Given the description of an element on the screen output the (x, y) to click on. 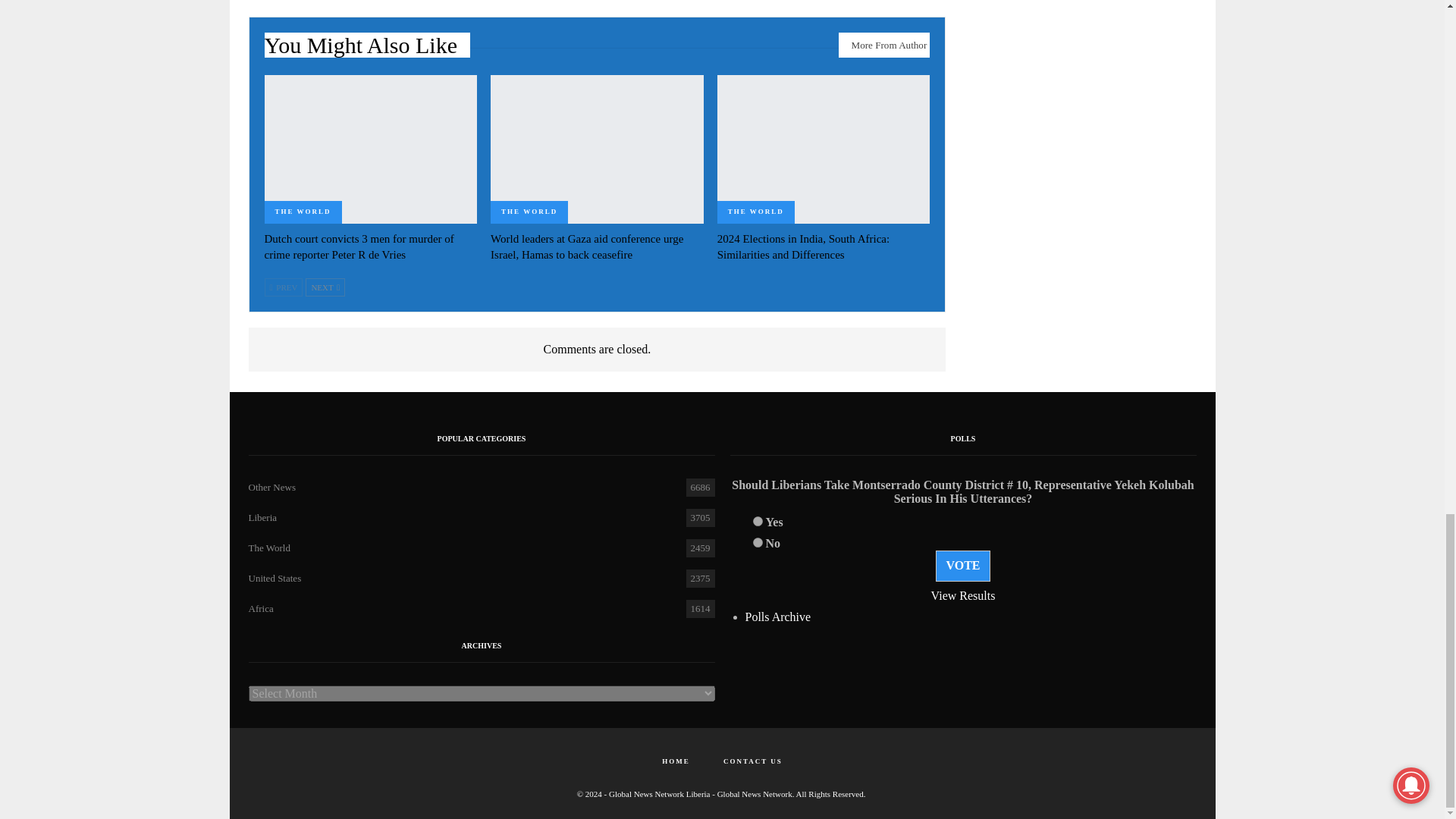
THE WORLD (301, 211)
You Might Also Like (366, 48)
View Results Of This Poll (963, 594)
   Vote    (963, 565)
